Given the description of an element on the screen output the (x, y) to click on. 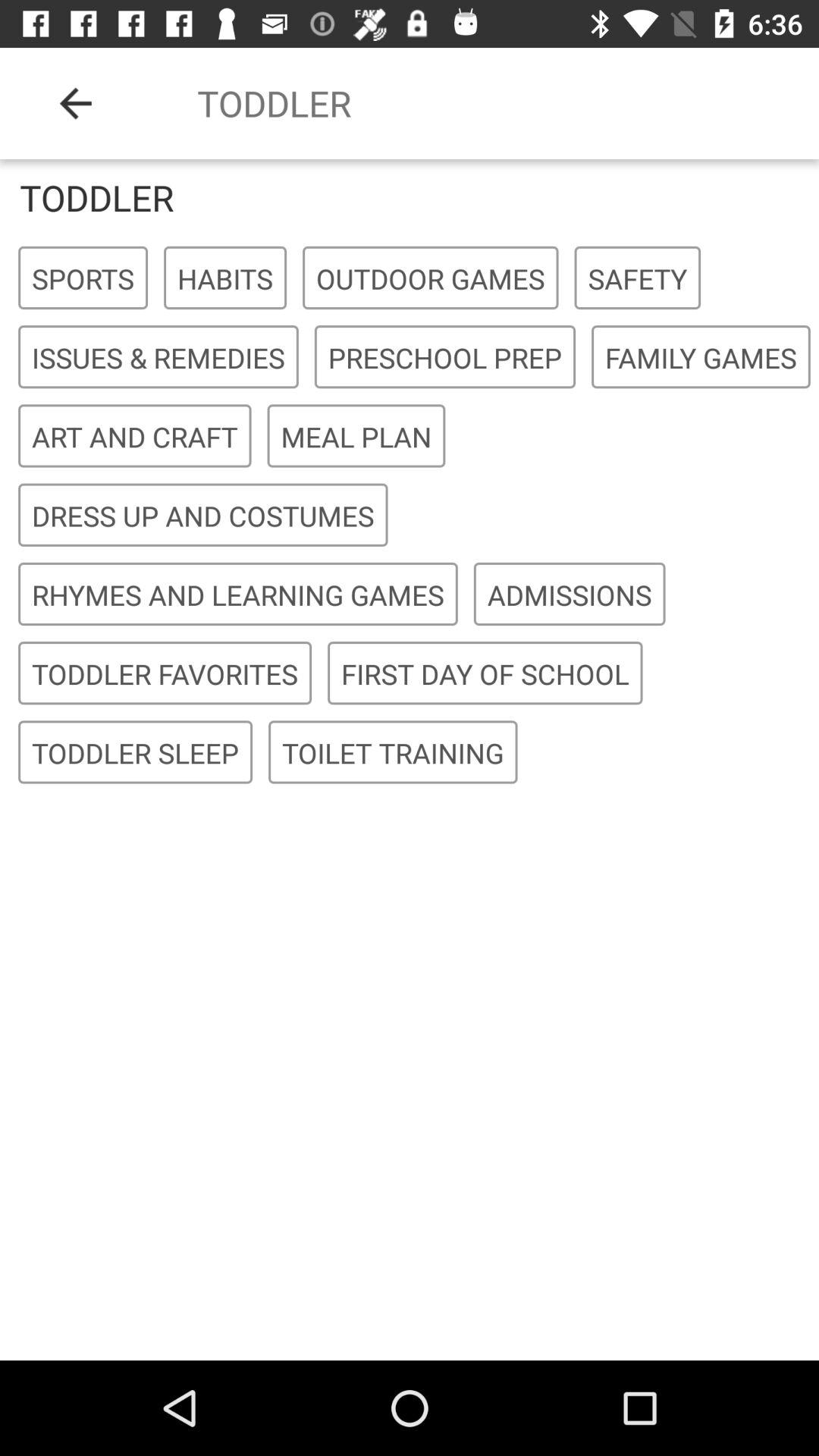
click outdoor games (430, 278)
